Given the description of an element on the screen output the (x, y) to click on. 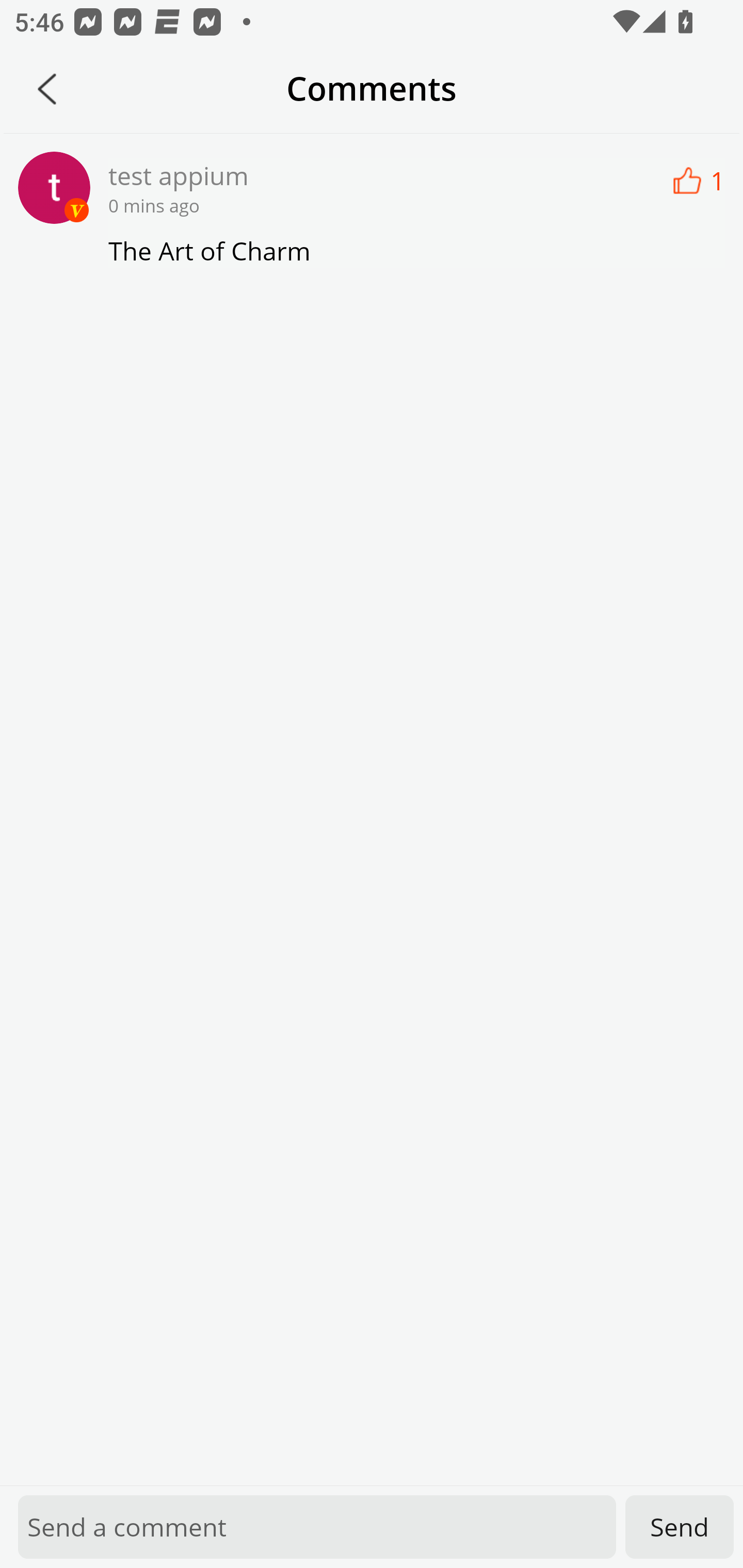
Back (46, 88)
Send a comment (316, 1526)
Send (679, 1526)
